Given the description of an element on the screen output the (x, y) to click on. 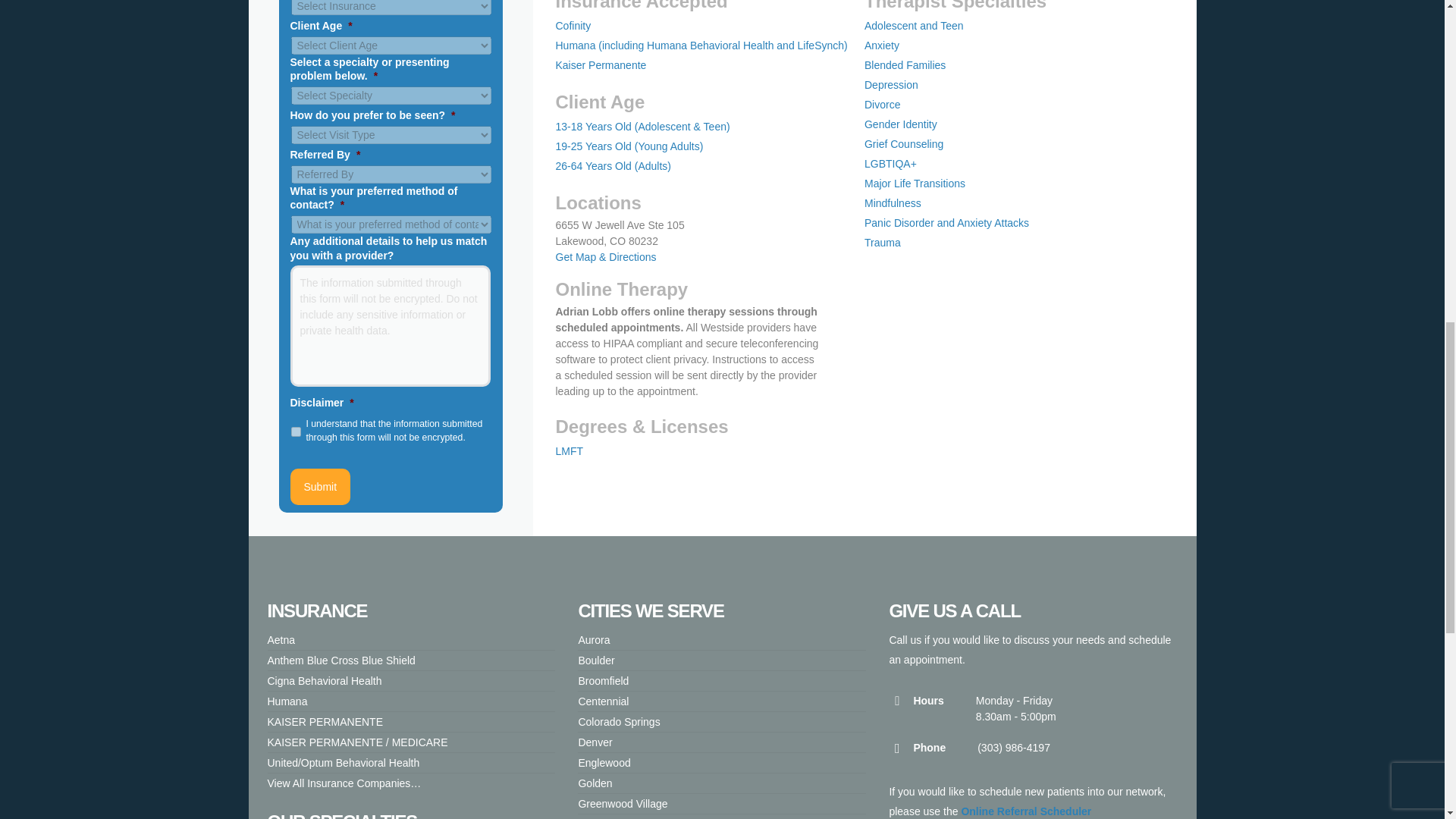
Submit (319, 486)
